Given the description of an element on the screen output the (x, y) to click on. 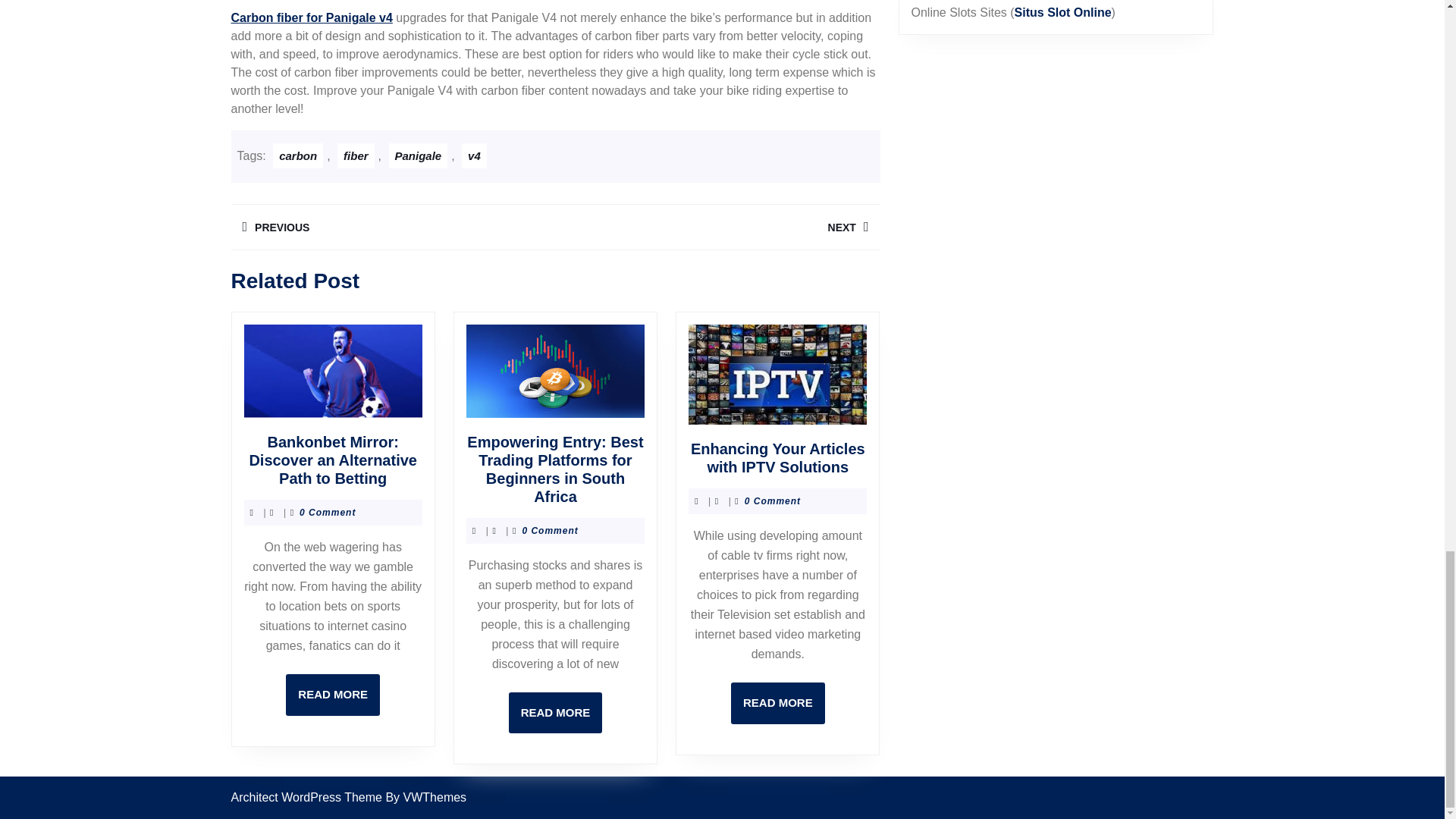
fiber (777, 702)
carbon (355, 155)
v4 (332, 694)
Panigale (716, 226)
Carbon fiber for Panigale v4 (555, 712)
